Given the description of an element on the screen output the (x, y) to click on. 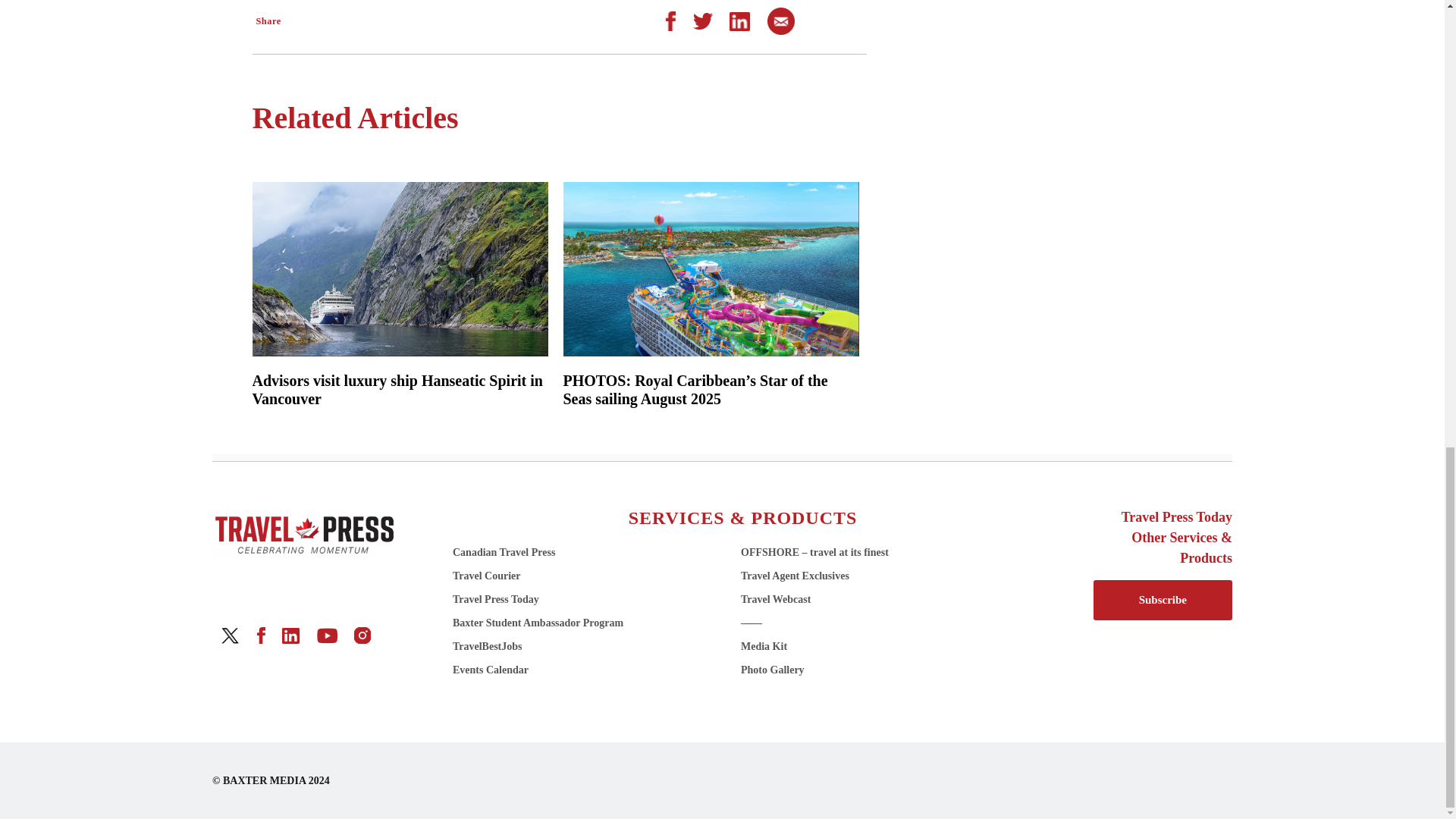
Share by Email (780, 19)
